Given the description of an element on the screen output the (x, y) to click on. 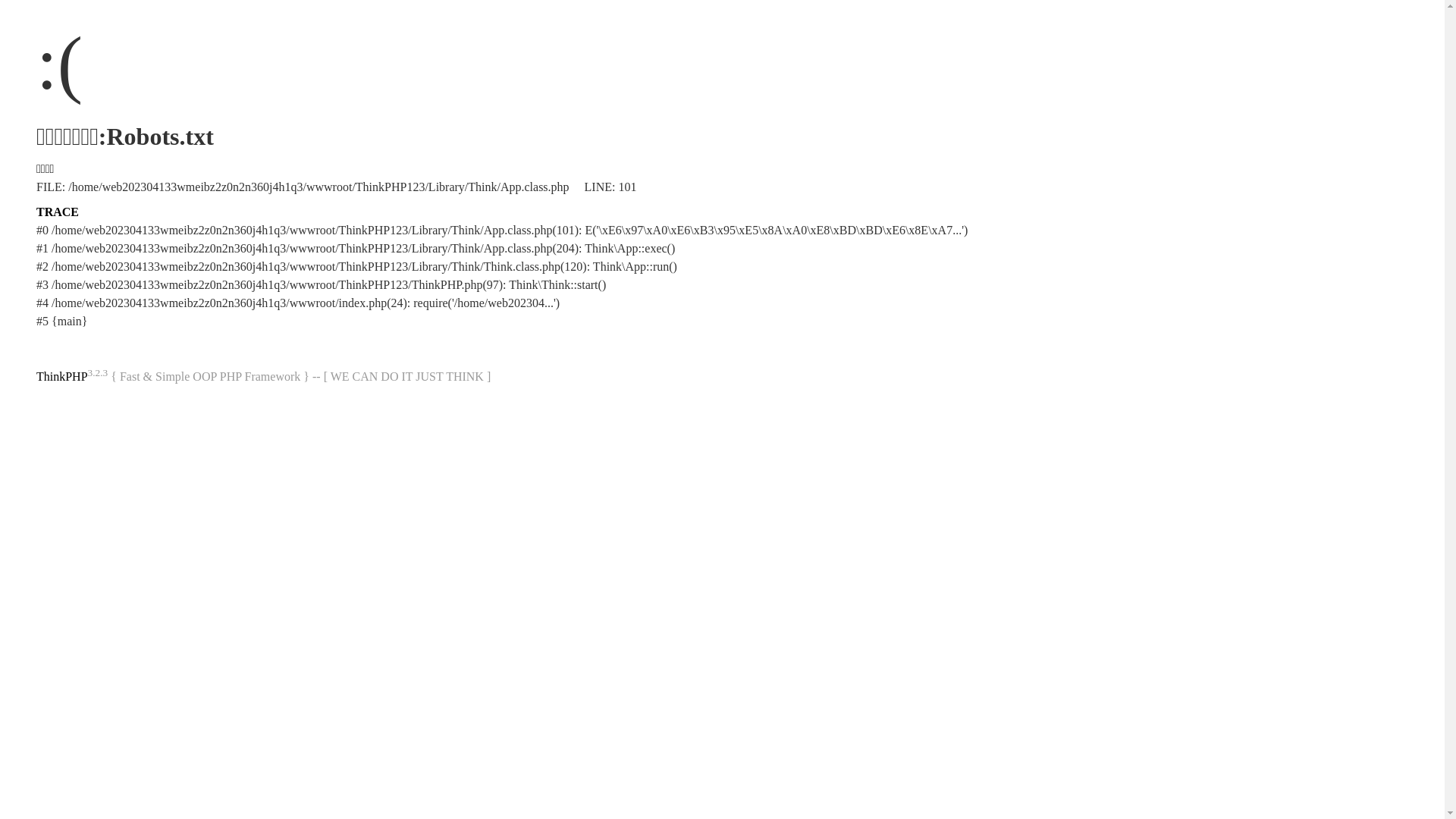
ThinkPHP Element type: text (61, 376)
